Given the description of an element on the screen output the (x, y) to click on. 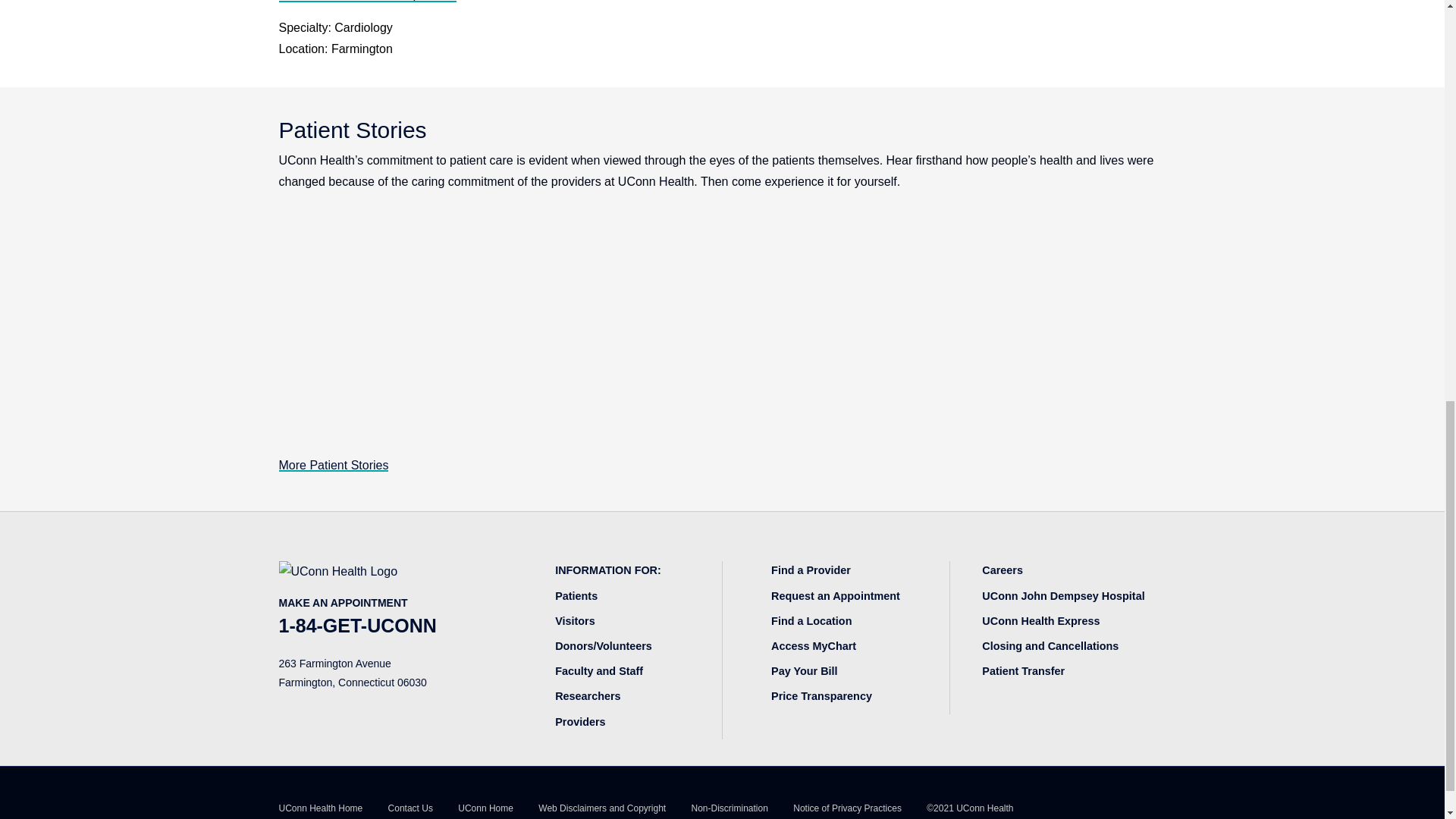
Providers (579, 721)
Researchers (587, 695)
Request an Appointment (835, 595)
Access MyChart (813, 645)
Faculty and Staff (598, 671)
Patients (575, 595)
Pickleball Champ Credits UConn Health for Success (722, 326)
Find a Provider (810, 570)
More Patient Stories (333, 464)
Pay Your Bill (804, 671)
Martha J. Radford, M.D. (368, 1)
3D Printing Technology Benefits Breast Cancer Survivors (1027, 326)
Price Transparency (821, 695)
Find a Location (811, 621)
